Given the description of an element on the screen output the (x, y) to click on. 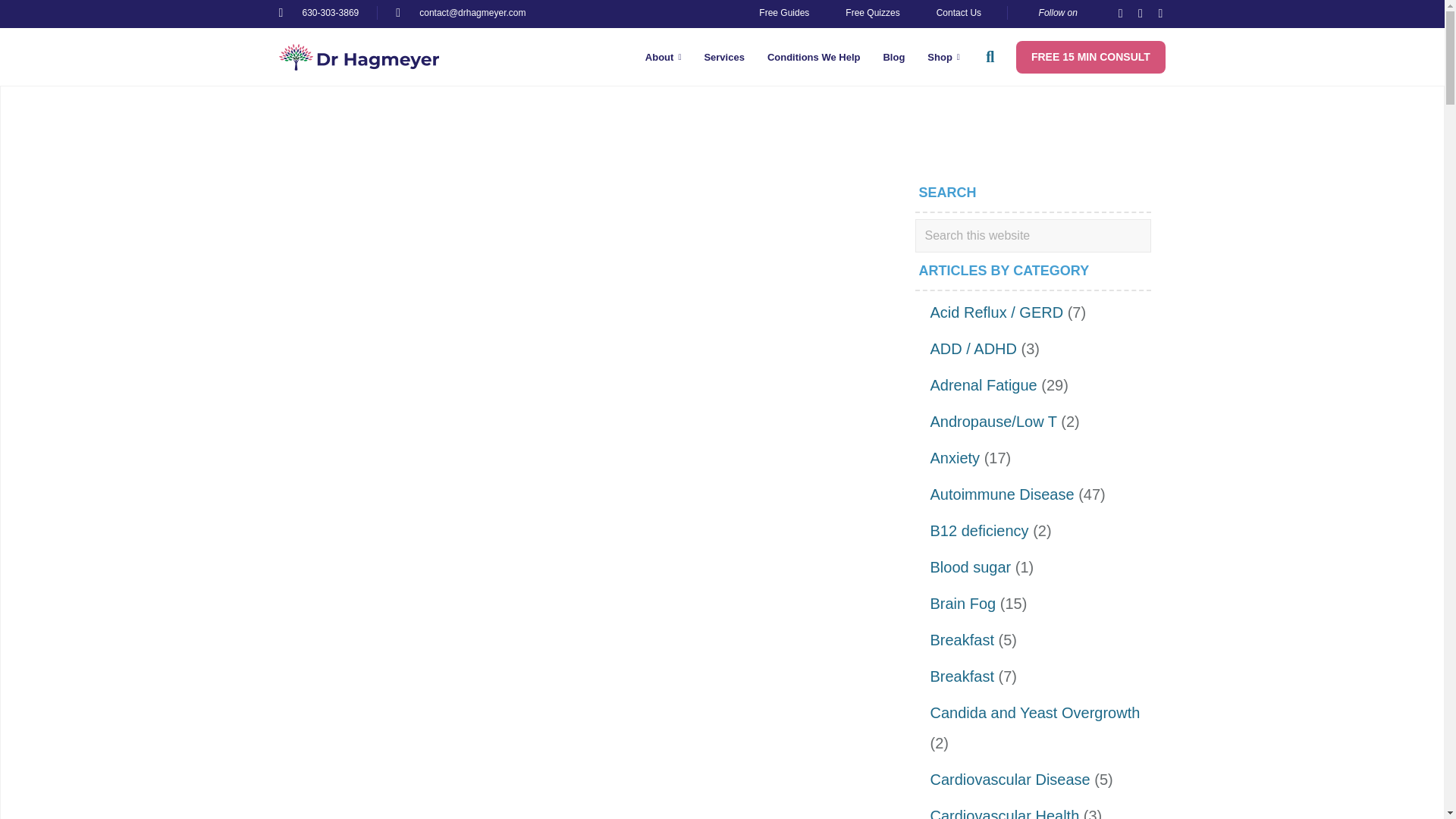
630-303-3869 (319, 12)
Shop (943, 56)
Conditions We Help (813, 56)
Contact Us (958, 12)
Blog (892, 56)
Free Quizzes (872, 12)
About (663, 56)
Free Guides (784, 12)
Services (724, 56)
